Given the description of an element on the screen output the (x, y) to click on. 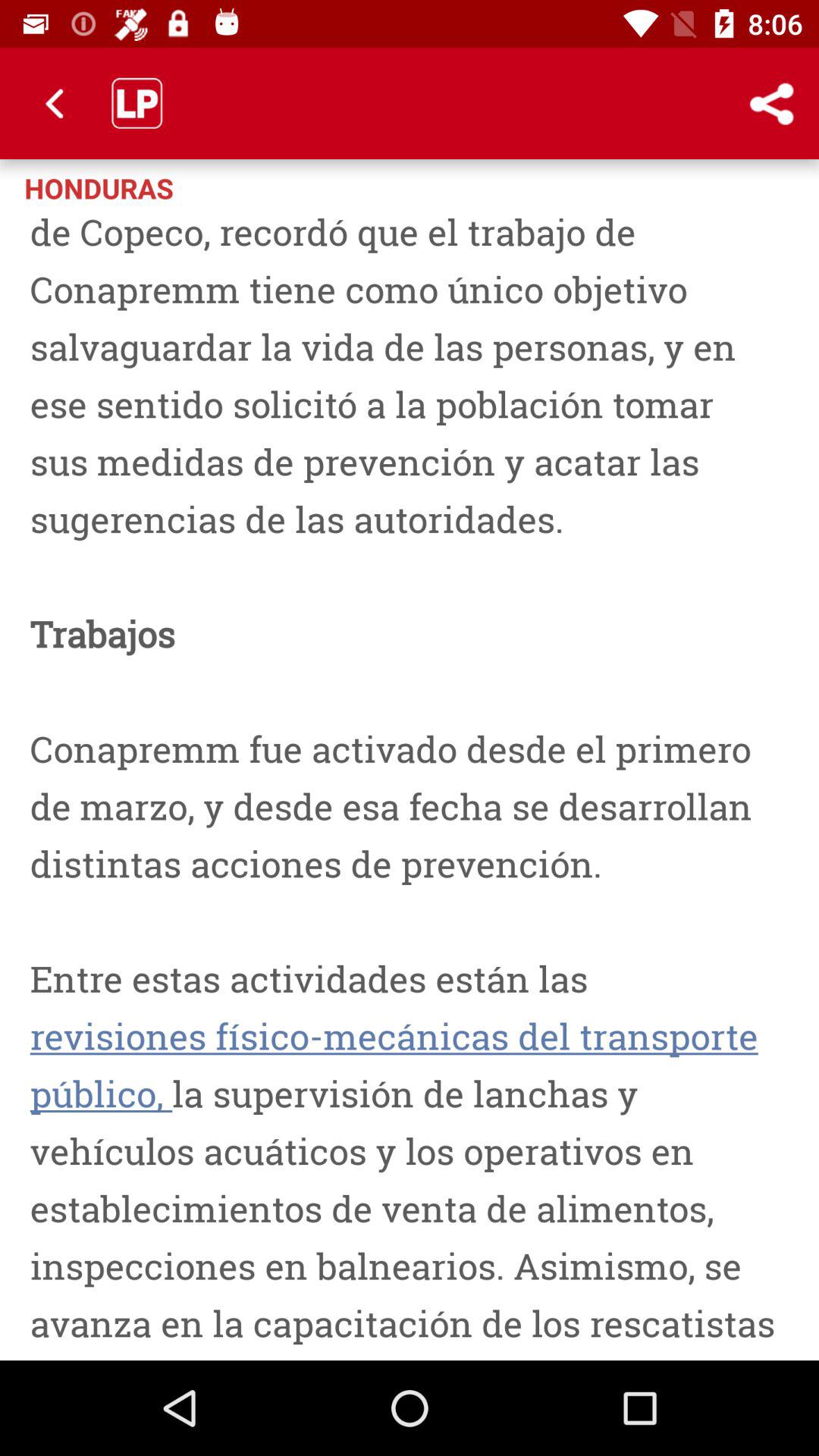
tap item next to the honduras item (709, 186)
